Given the description of an element on the screen output the (x, y) to click on. 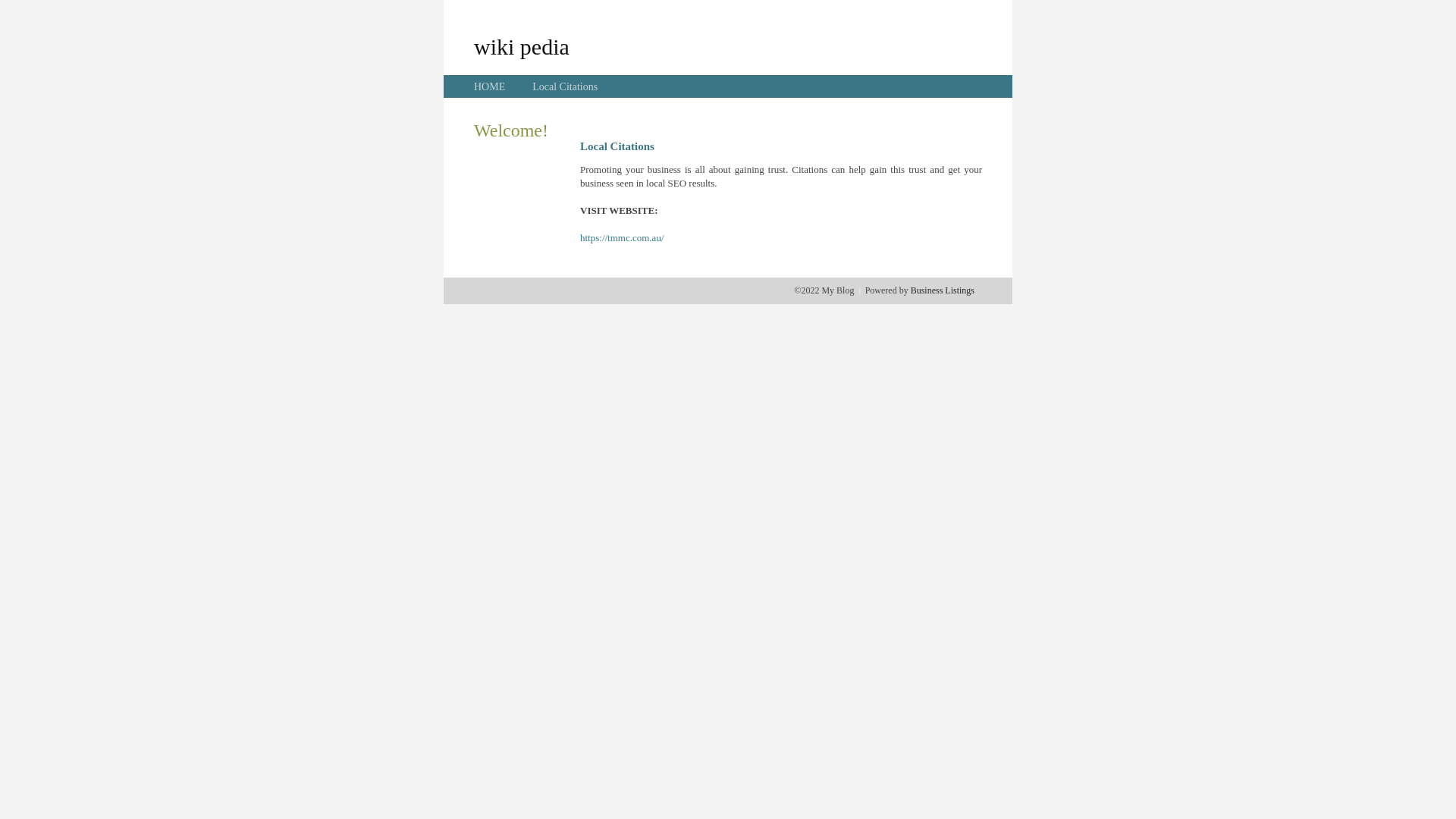
wiki pedia Element type: text (521, 46)
Business Listings Element type: text (942, 290)
Local Citations Element type: text (564, 86)
https://tmmc.com.au/ Element type: text (622, 237)
HOME Element type: text (489, 86)
